Given the description of an element on the screen output the (x, y) to click on. 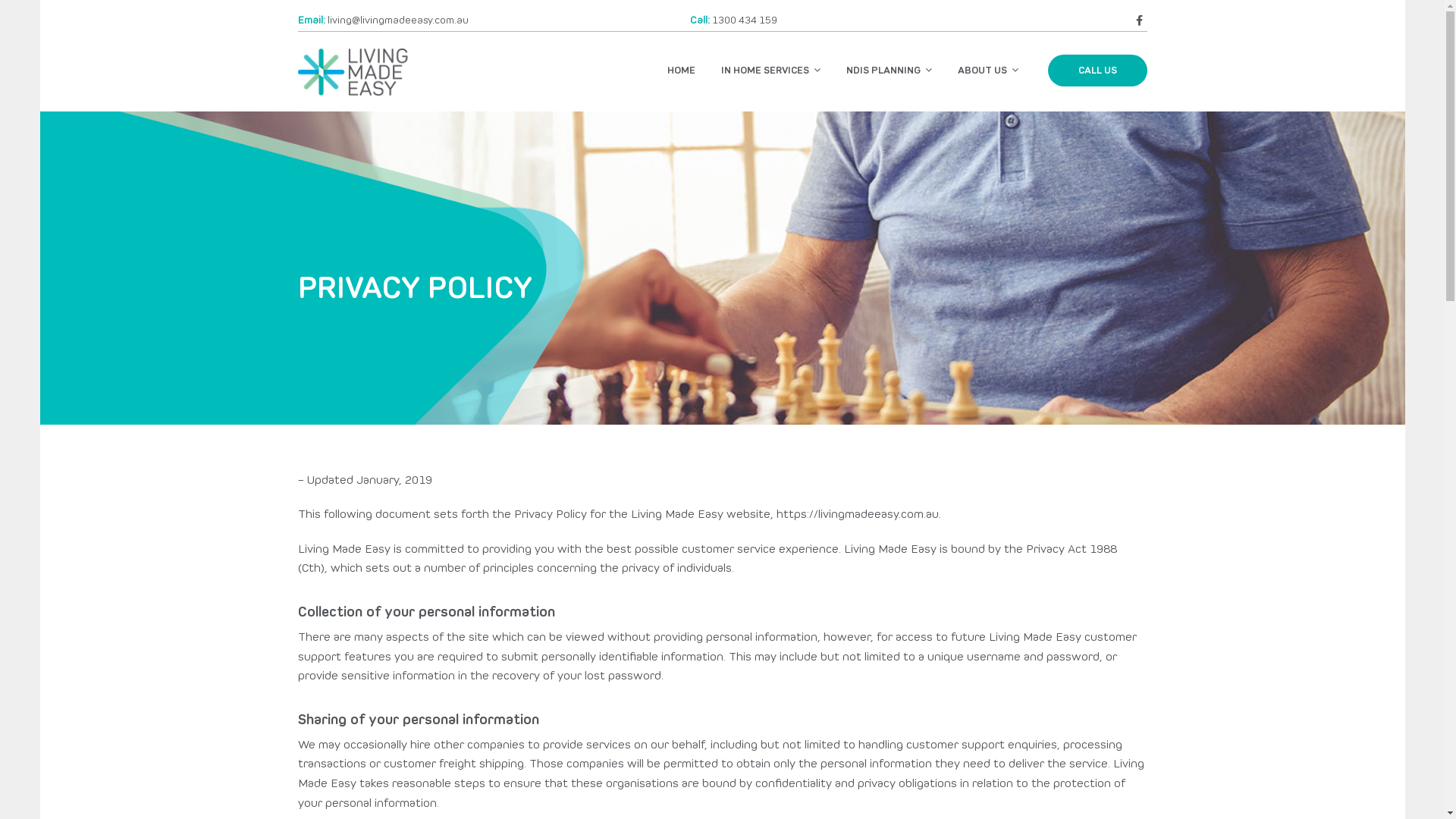
NDIS PLANNING Element type: text (888, 69)
CALL US Element type: text (1097, 70)
Email: living@livingmadeeasy.com.au Element type: text (382, 19)
Call: 1300 434 159 Element type: text (733, 19)
HOME Element type: text (680, 70)
IN HOME SERVICES Element type: text (770, 69)
ABOUT US Element type: text (987, 69)
